Given the description of an element on the screen output the (x, y) to click on. 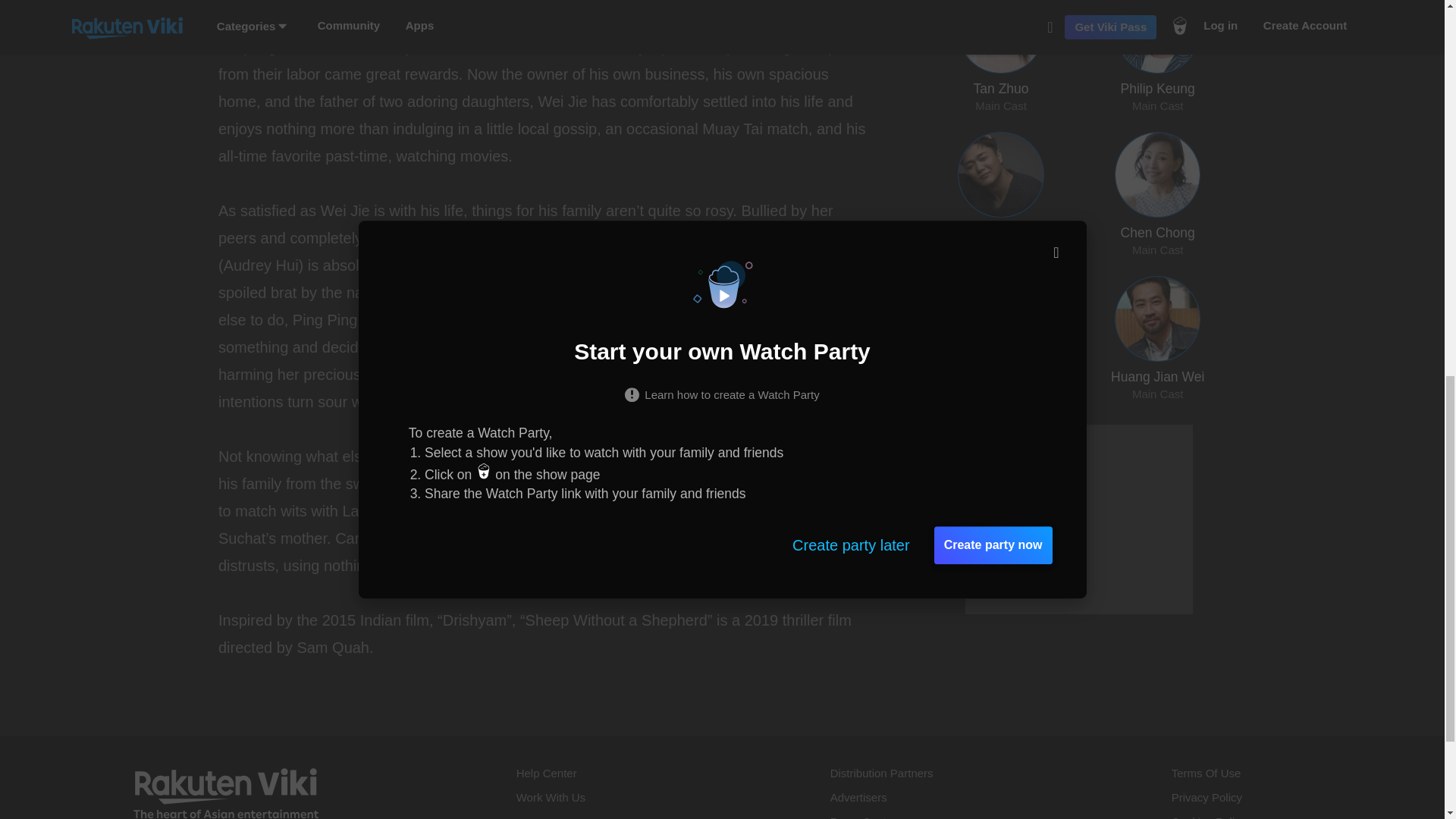
Yang Xiao (1000, 194)
Chen Chong (1157, 194)
Tan Zhuo (543, 0)
